Given the description of an element on the screen output the (x, y) to click on. 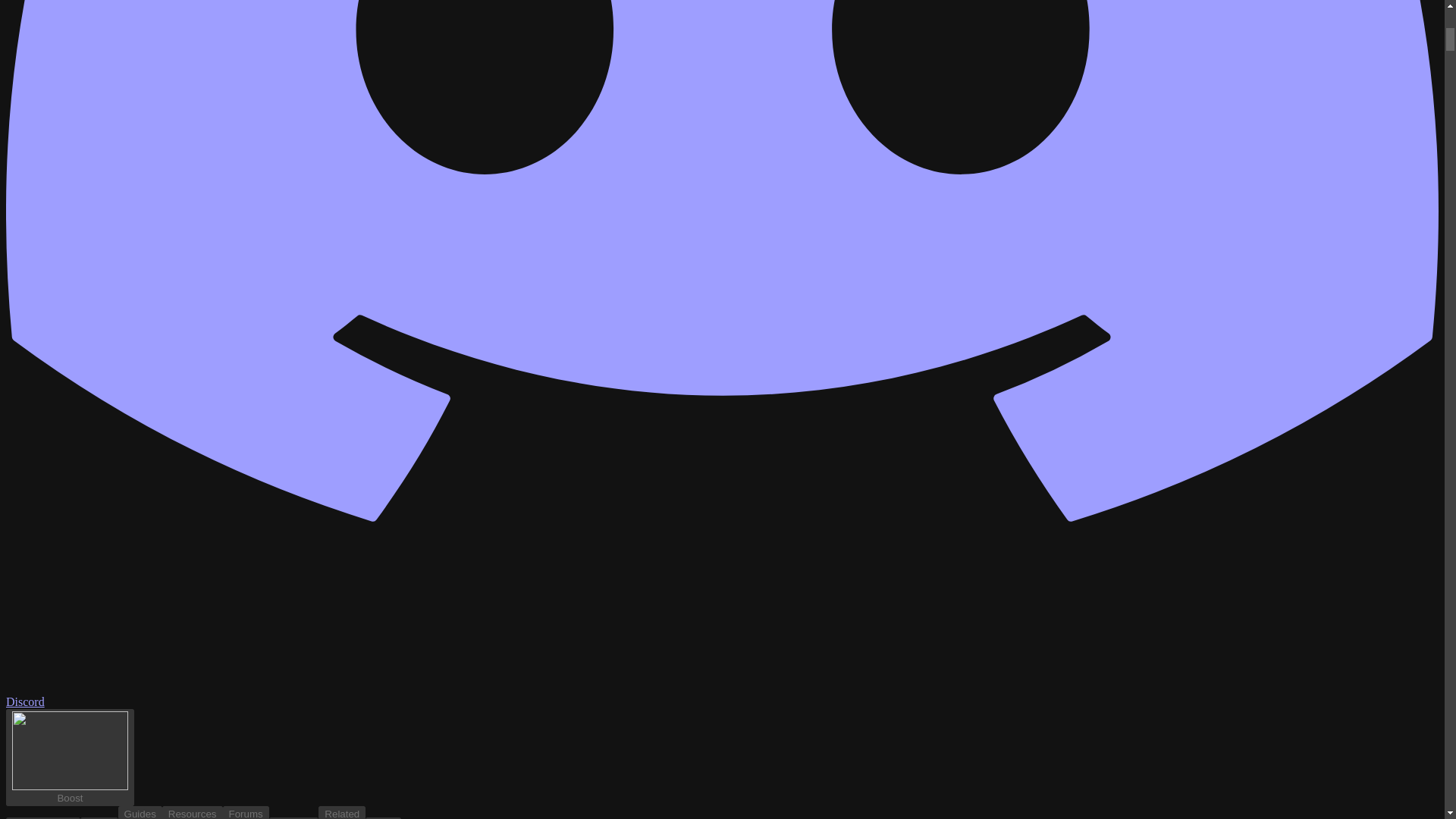
Leaderboards (139, 812)
Streams (191, 818)
Streams (245, 812)
News (42, 818)
Stats (293, 818)
